Given the description of an element on the screen output the (x, y) to click on. 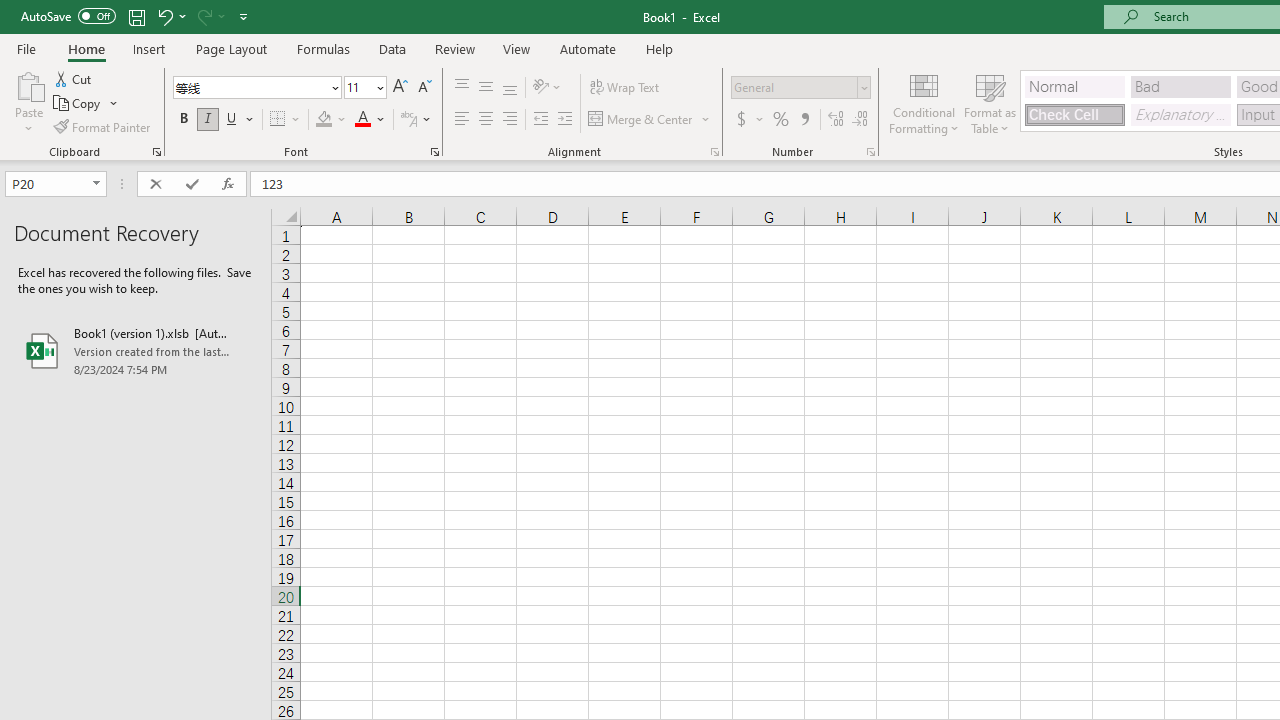
Underline (232, 119)
Fill Color (331, 119)
Center (485, 119)
Office Clipboard... (156, 151)
View (517, 48)
Open (96, 183)
Middle Align (485, 87)
Font Color RGB(255, 0, 0) (362, 119)
Merge & Center (641, 119)
Font Size (358, 87)
Redo (203, 15)
Redo (209, 15)
Paste (28, 102)
Name Box (56, 183)
Wrap Text (624, 87)
